Given the description of an element on the screen output the (x, y) to click on. 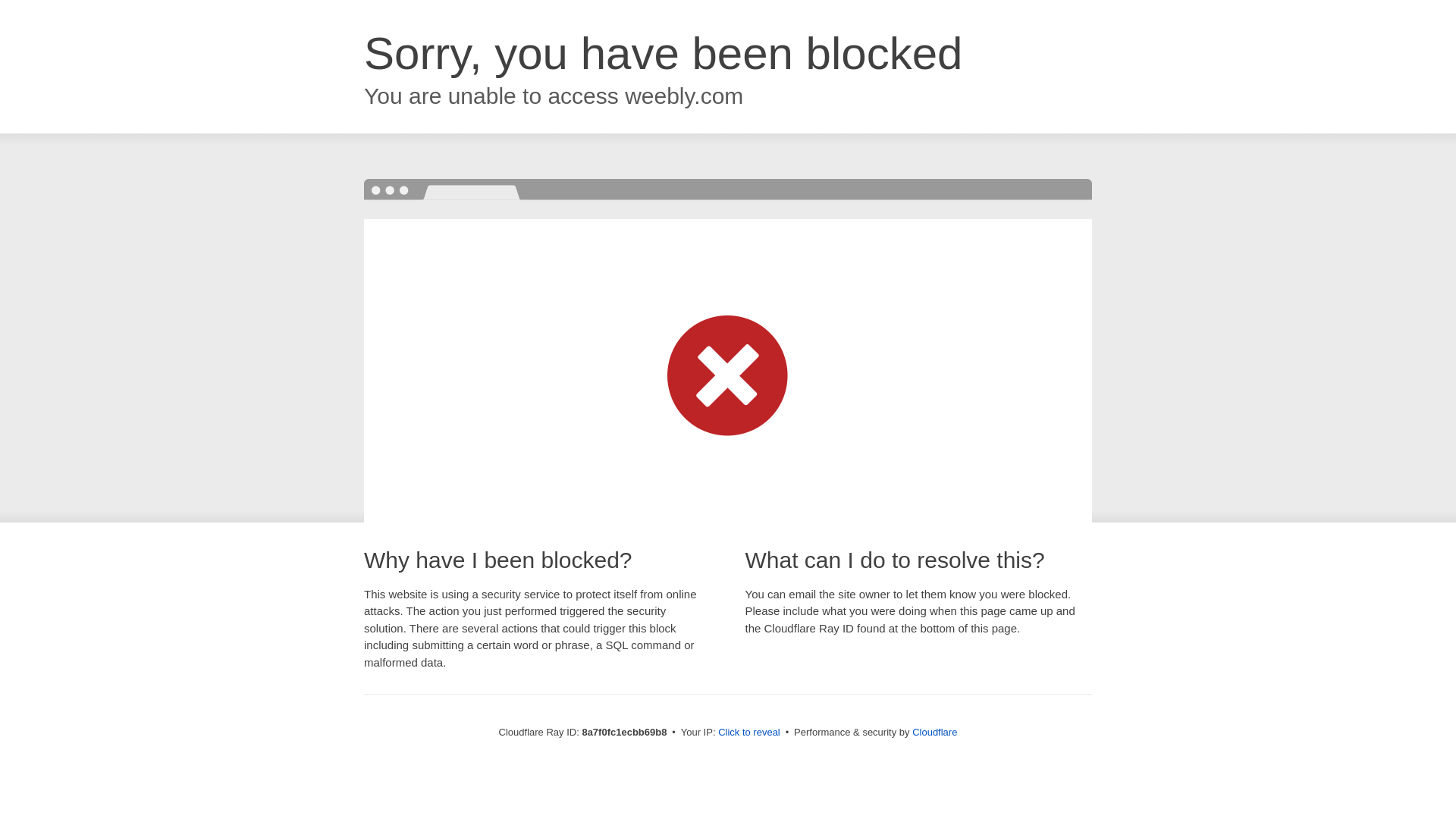
Cloudflare (934, 731)
Click to reveal (748, 732)
